Given the description of an element on the screen output the (x, y) to click on. 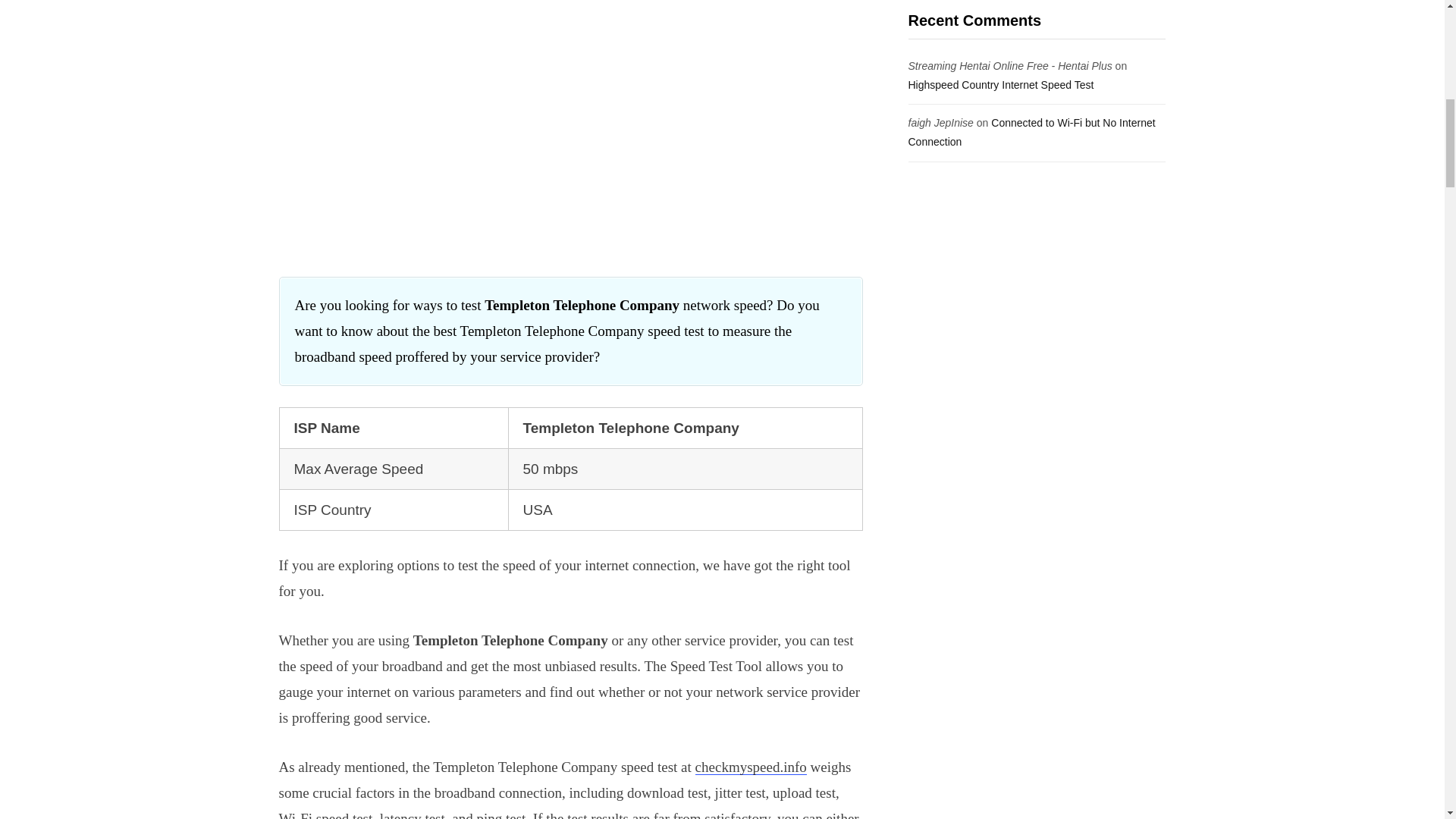
checkmyspeed.info (750, 766)
Connected to Wi-Fi but No Internet Connection (1032, 132)
Highspeed Country Internet Speed Test (1001, 84)
